Given the description of an element on the screen output the (x, y) to click on. 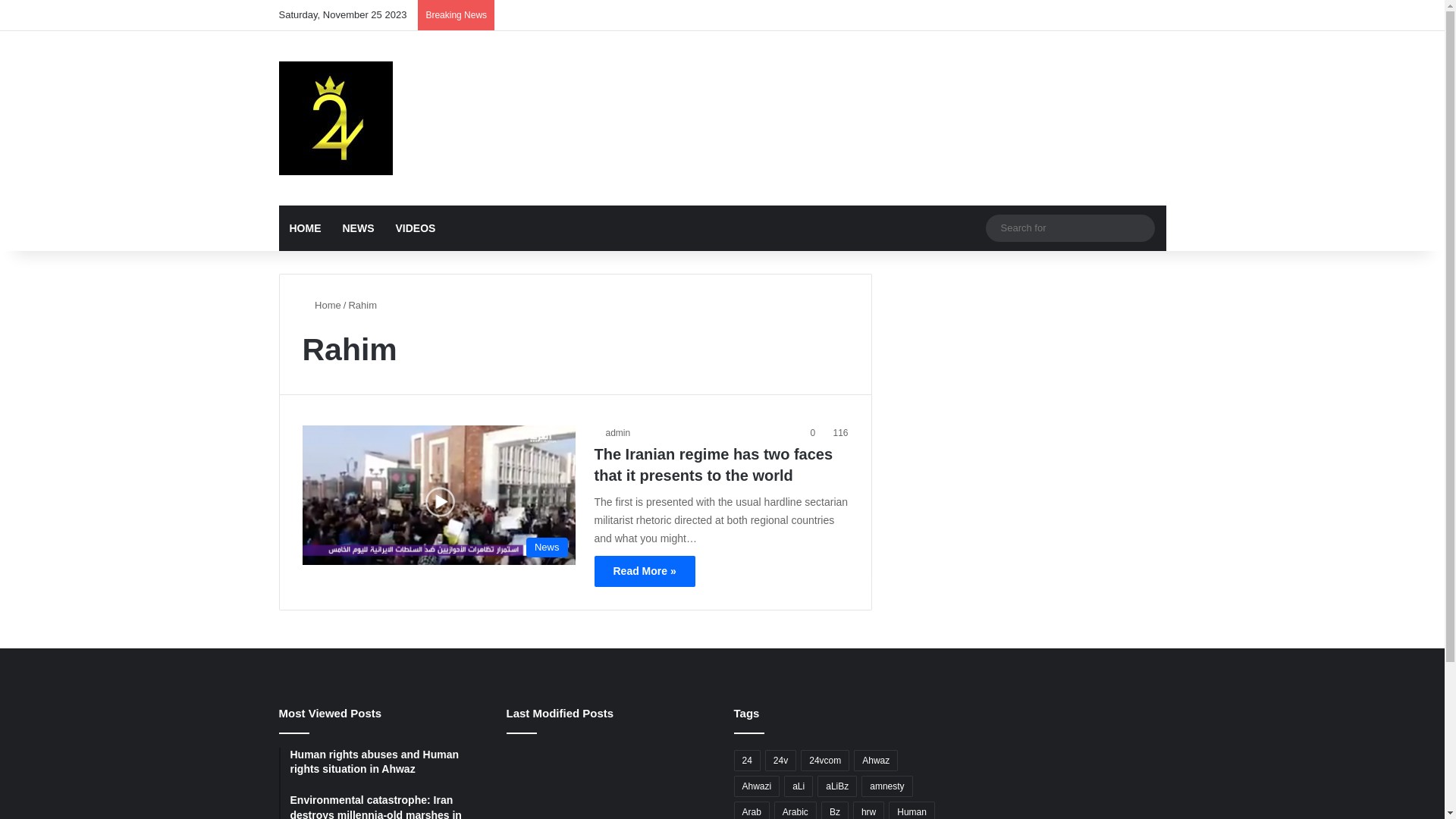
24vcom Element type: text (824, 760)
admin Element type: text (612, 432)
24V - Ahwazis Human Rights Activist Element type: hover (335, 118)
VIDEOS Element type: text (415, 228)
Human rights abuses and Human rights situation in Ahwaz Element type: text (386, 762)
aLiBz Element type: text (836, 786)
Search for Element type: hover (1069, 227)
Sidebar Element type: text (1154, 15)
Log In Element type: text (1109, 15)
Ahwaz Element type: text (875, 760)
Random Article Element type: text (974, 228)
Home Element type: text (320, 304)
amnesty Element type: text (886, 786)
NEWS Element type: text (358, 228)
24v Element type: text (780, 760)
aLi Element type: text (798, 786)
News Element type: text (437, 494)
HOME Element type: text (305, 228)
Random Article Element type: text (1131, 15)
Ahwazi Element type: text (757, 786)
Search for Element type: text (1138, 227)
24 Element type: text (747, 760)
